Given the description of an element on the screen output the (x, y) to click on. 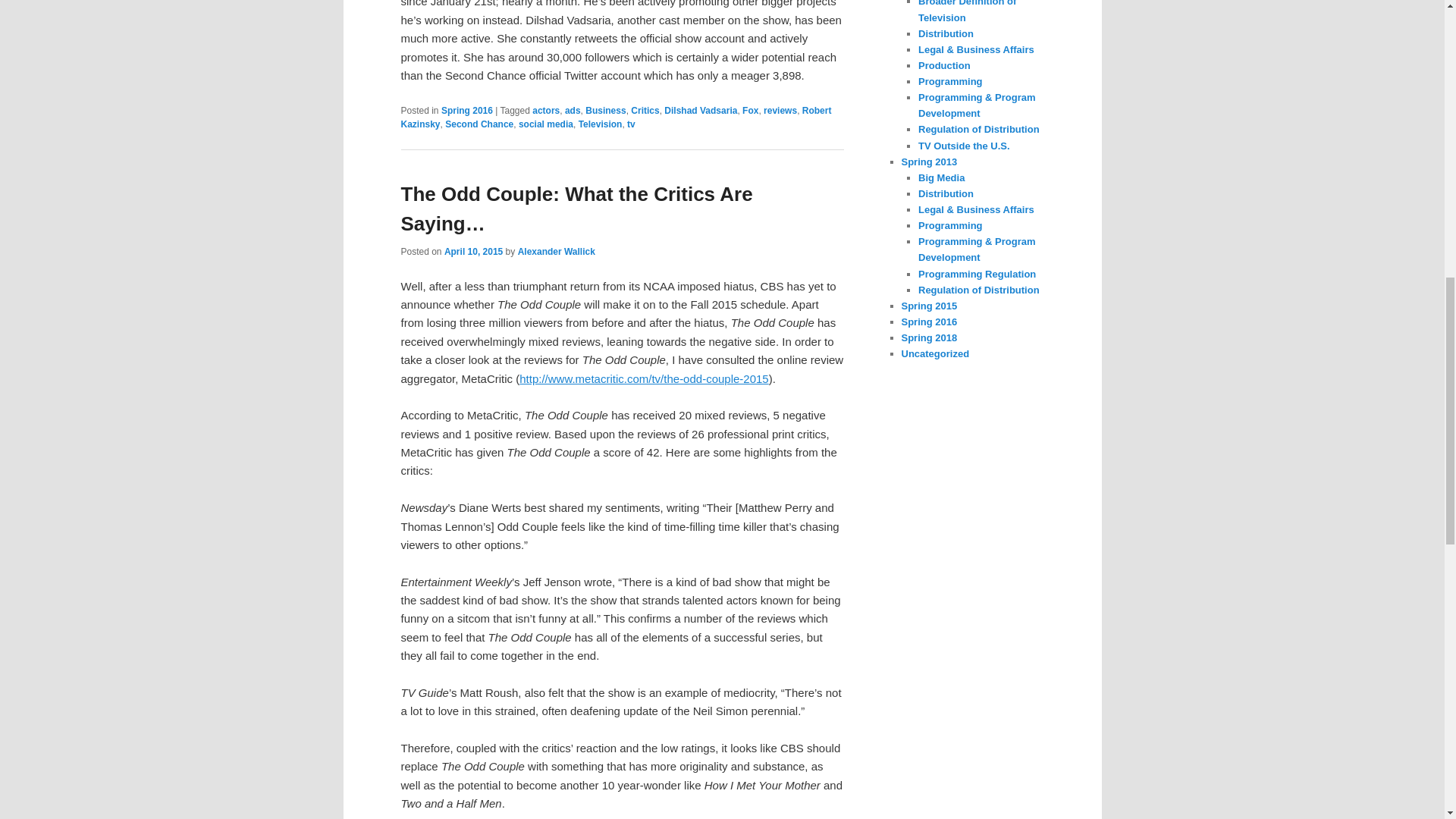
Fox (750, 110)
Spring 2016 (467, 110)
Business (605, 110)
Second Chance (479, 123)
reviews (779, 110)
Robert Kazinsky (615, 117)
3:29 pm (473, 251)
View all posts by Alexander Wallick (556, 251)
ads (572, 110)
Dilshad Vadsaria (699, 110)
social media (545, 123)
actors (545, 110)
Television (600, 123)
Critics (644, 110)
